Given the description of an element on the screen output the (x, y) to click on. 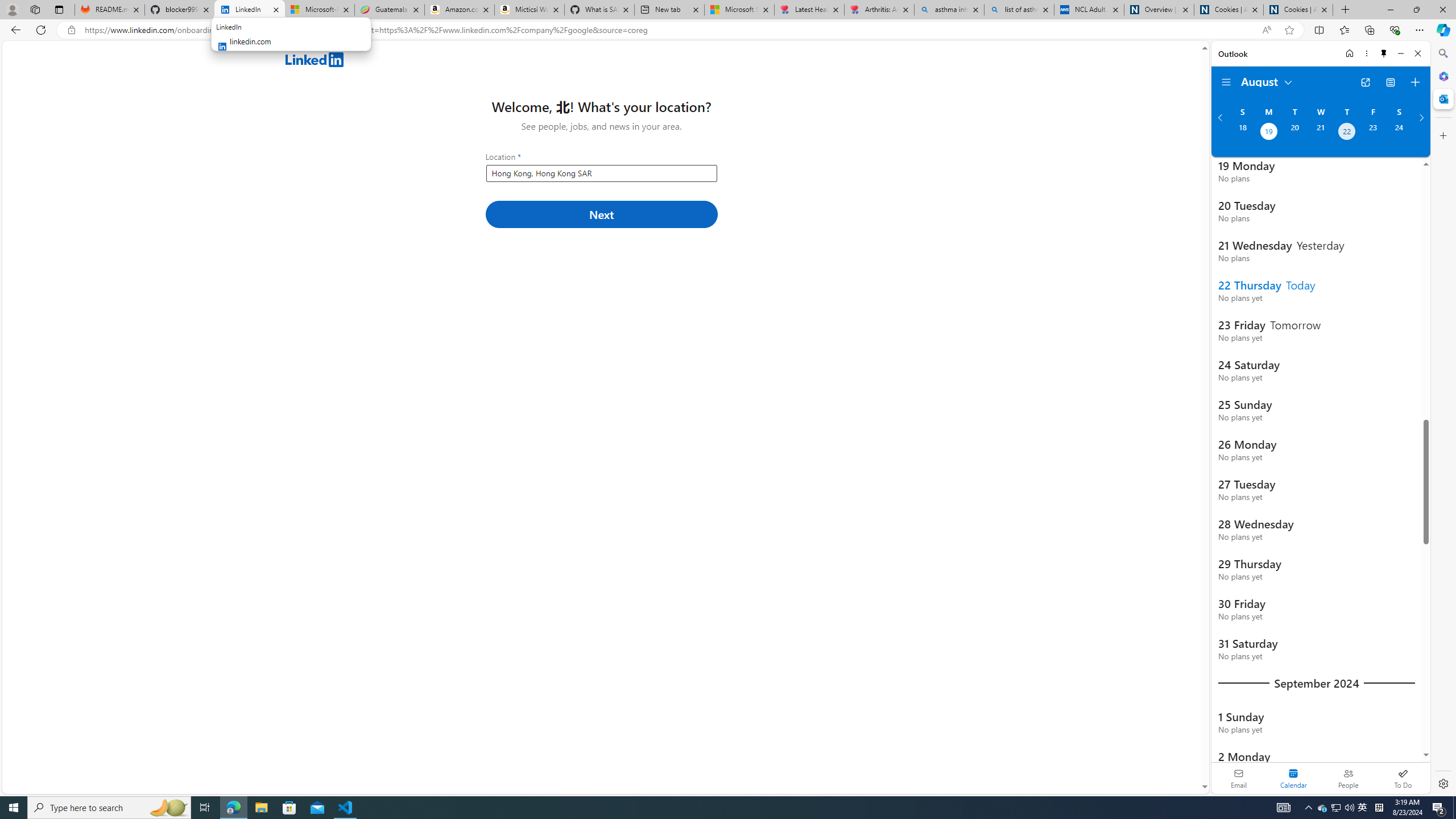
Folder navigation (1225, 82)
Sunday, August 18, 2024.  (1242, 132)
View Switcher. Current view is Agenda view (1390, 82)
Open in new tab (1365, 82)
